Given the description of an element on the screen output the (x, y) to click on. 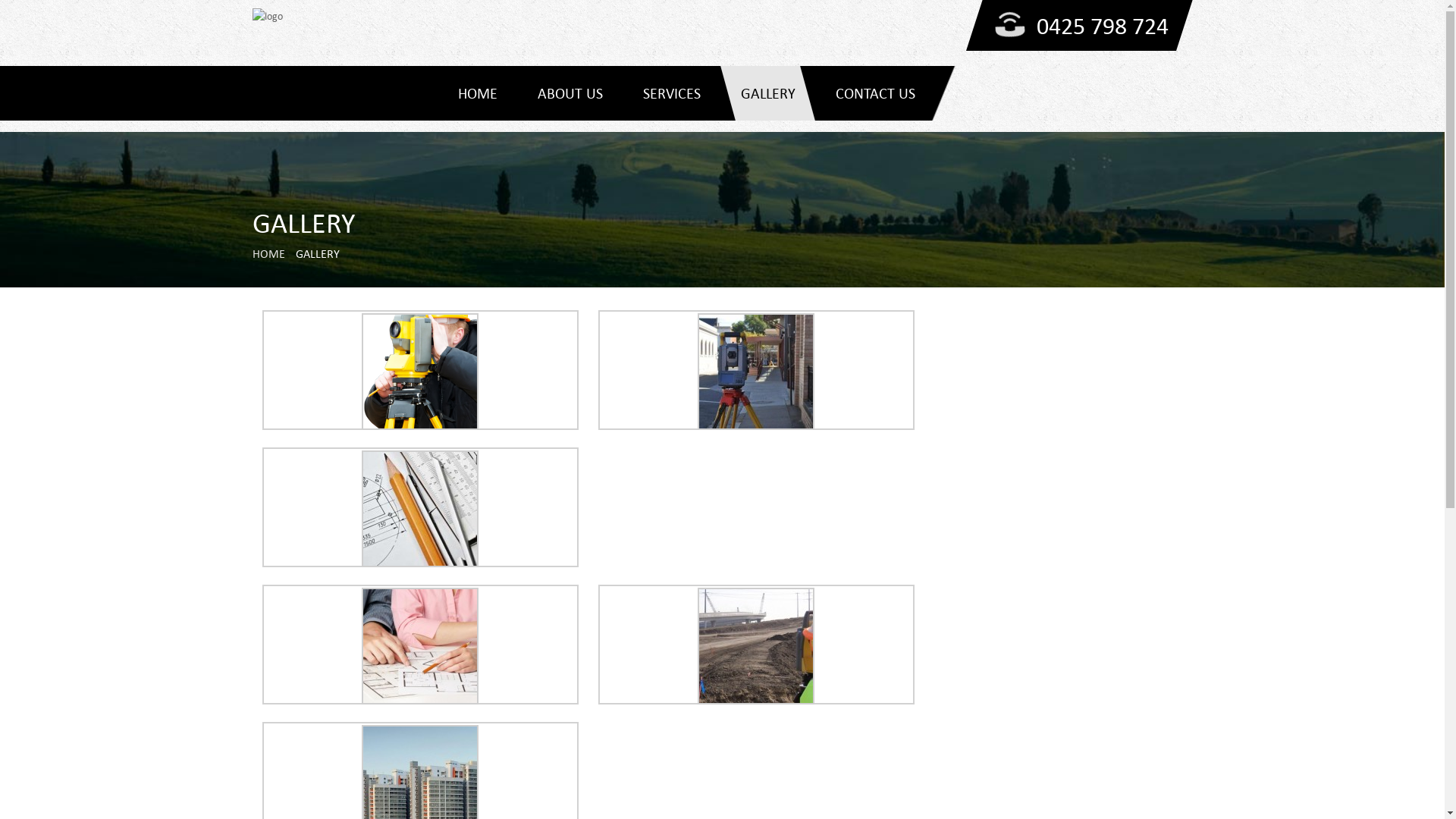
CONTACT US Element type: text (874, 92)
Hatch & Hatch Element type: hover (266, 16)
SERVICES Element type: text (670, 92)
HOME Element type: text (267, 253)
GALLERY Element type: text (767, 92)
ABOUT US Element type: text (569, 92)
HOME Element type: text (476, 92)
